Given the description of an element on the screen output the (x, y) to click on. 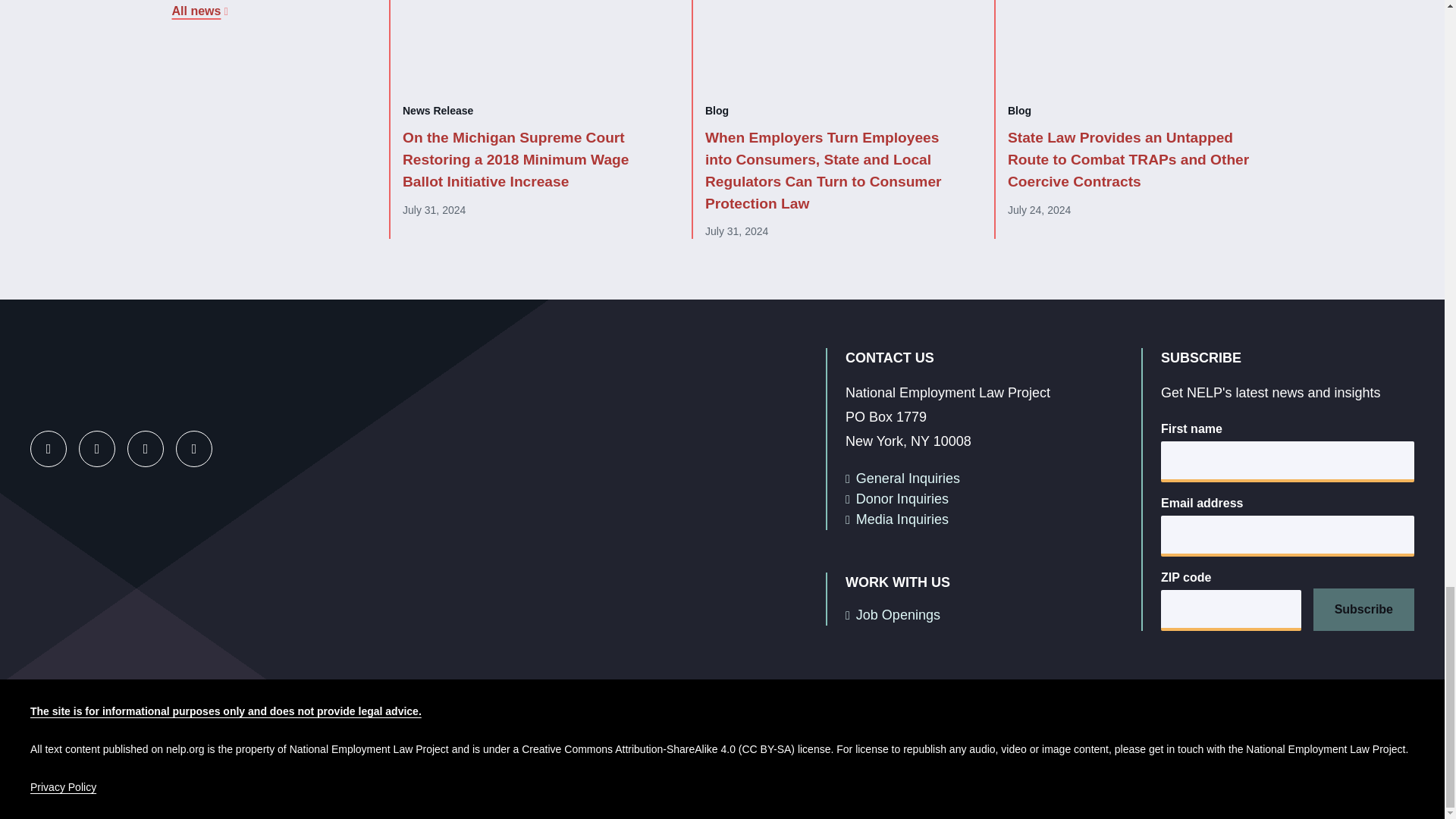
5-digit ZIP code (1230, 609)
